Given the description of an element on the screen output the (x, y) to click on. 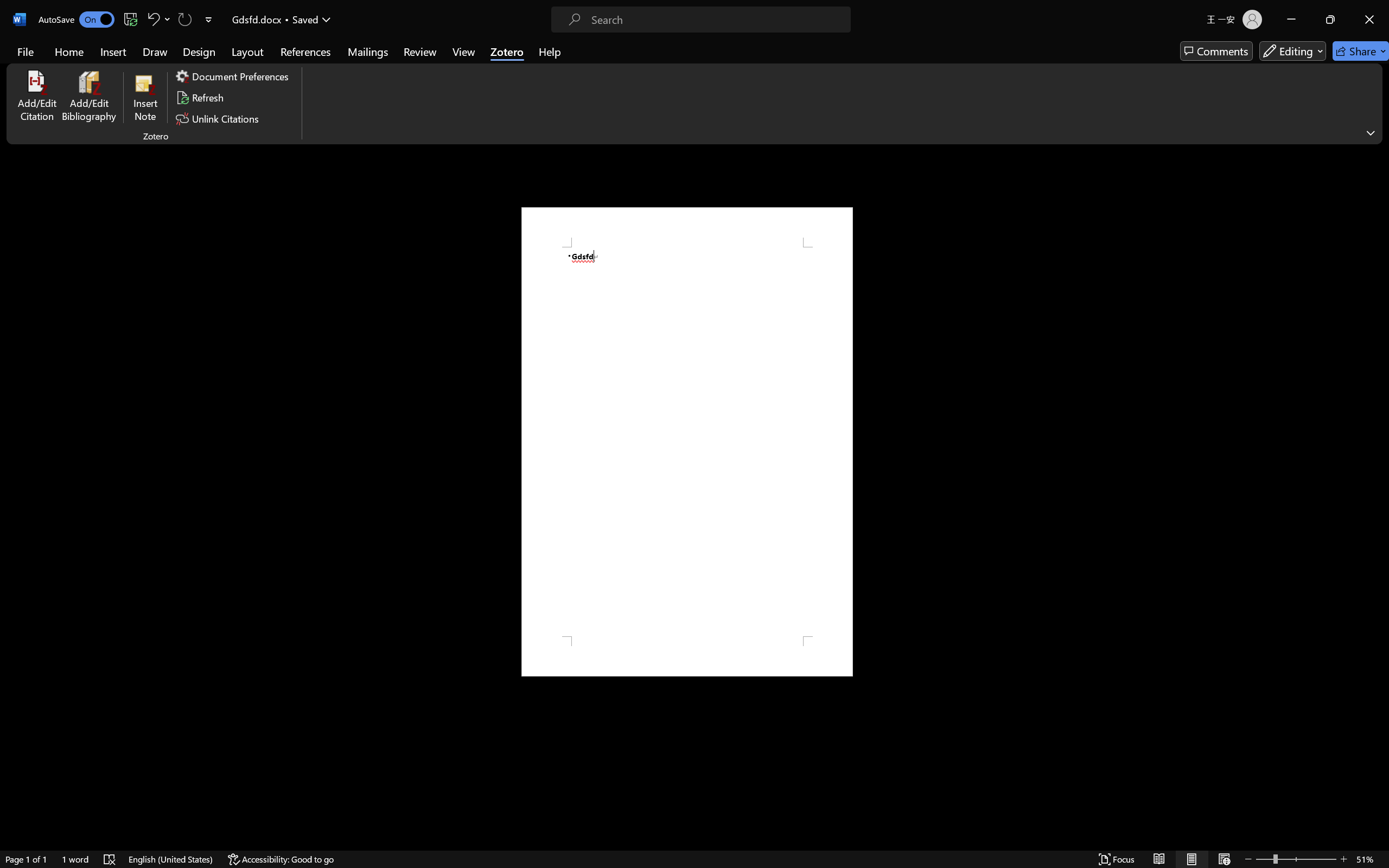
Page 1 content (686, 441)
